Given the description of an element on the screen output the (x, y) to click on. 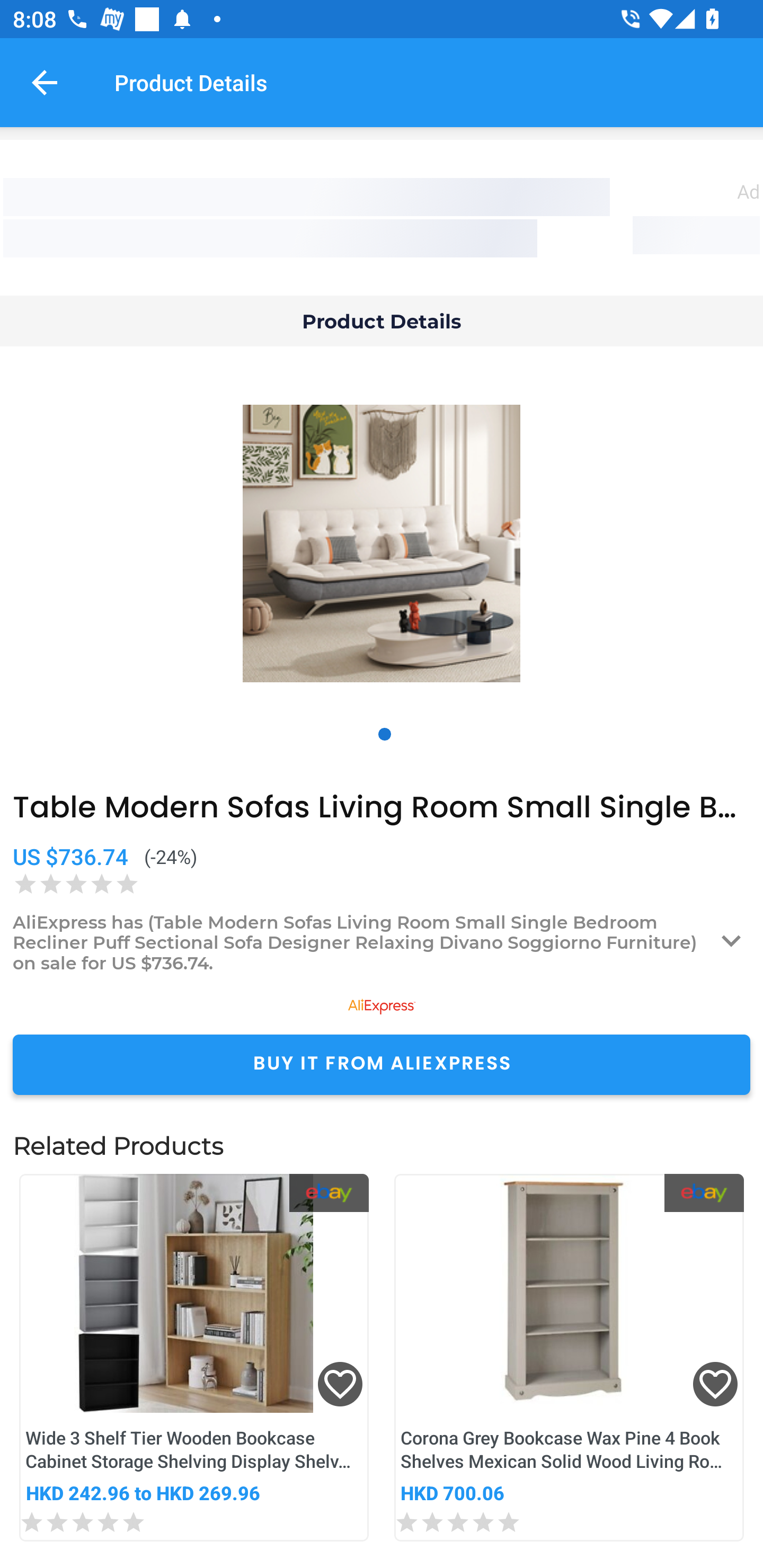
Navigate up (44, 82)
BUY IT FROM ALIEXPRESS (381, 1064)
